Given the description of an element on the screen output the (x, y) to click on. 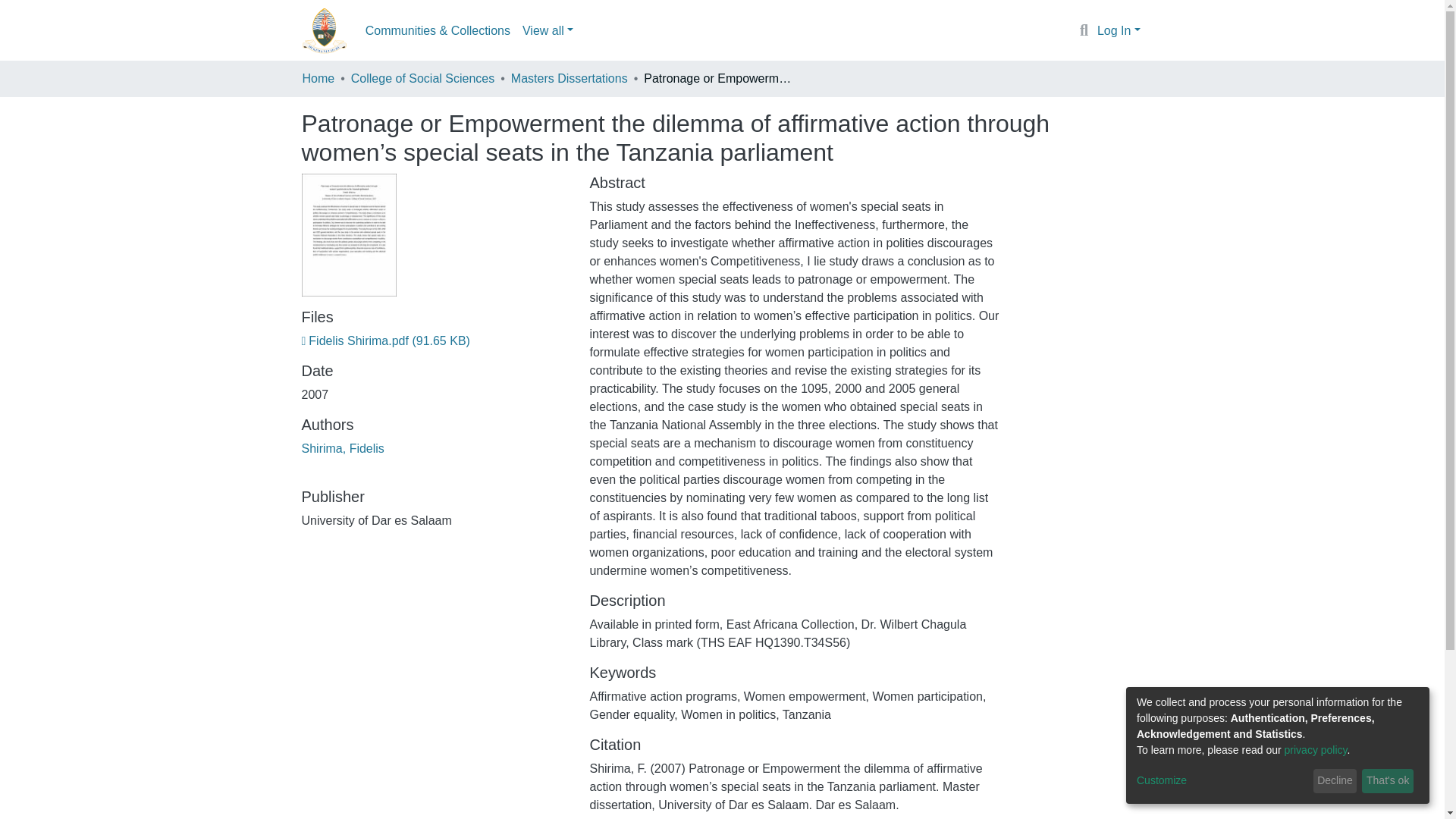
Shirima, Fidelis (342, 448)
View all (547, 30)
Log In (1118, 30)
Decline (1334, 781)
Masters Dissertations (569, 78)
College of Social Sciences (422, 78)
Home (317, 78)
Search (1084, 30)
That's ok (1387, 781)
Customize (1222, 780)
privacy policy (1316, 749)
